Given the description of an element on the screen output the (x, y) to click on. 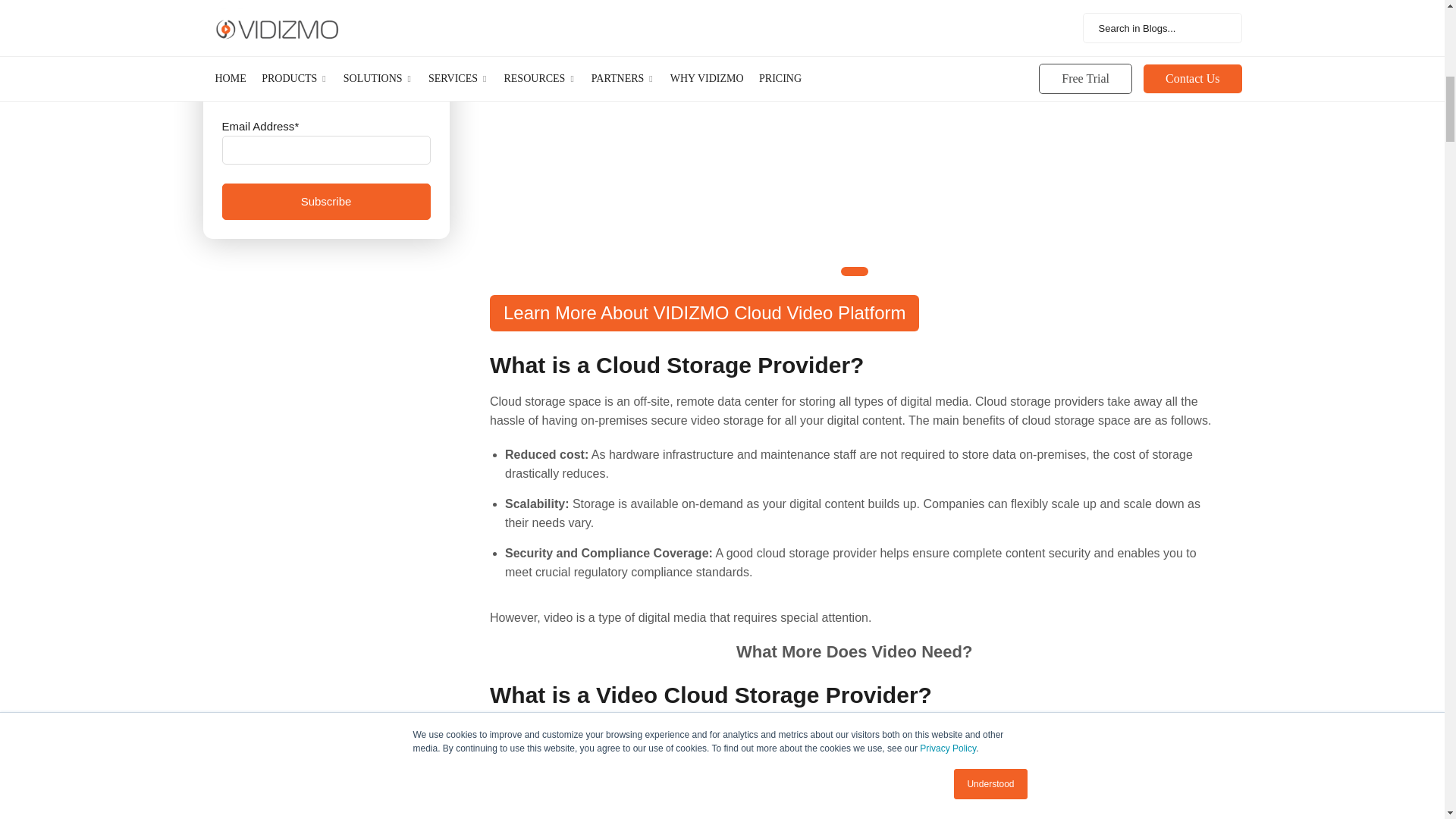
YouTube video player (854, 113)
Learn More About VIDIZMO Cloud Video Platform (854, 271)
Learn More About VIDIZMO Cloud Video Platform (703, 312)
Subscribe (325, 201)
